Given the description of an element on the screen output the (x, y) to click on. 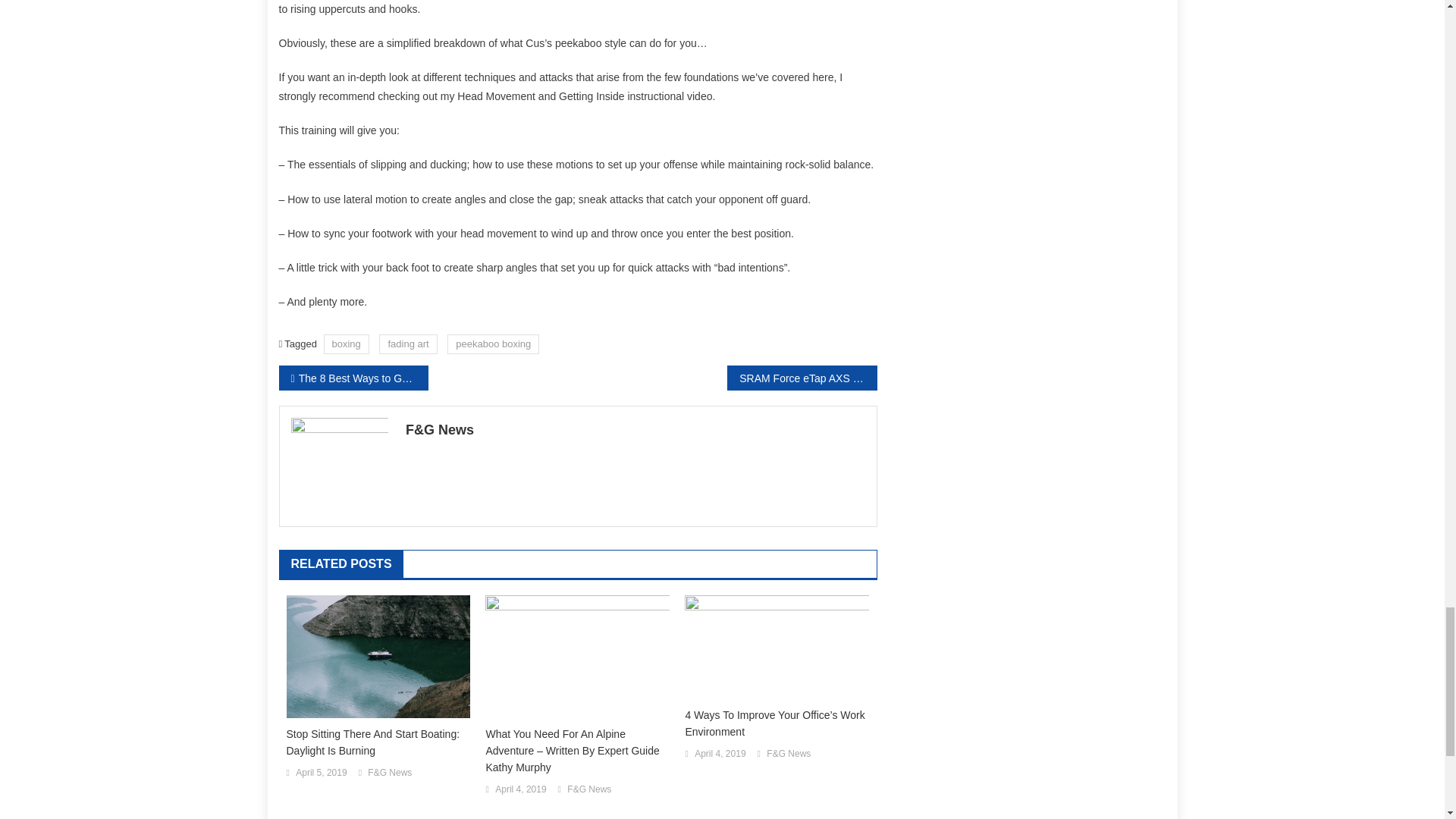
The 8 Best Ways to Get 6-Pack Abs Fast (353, 377)
fading art (407, 343)
April 5, 2019 (320, 773)
April 4, 2019 (719, 754)
Stop Sitting There And Start Boating: Daylight Is Burning (378, 742)
April 4, 2019 (520, 790)
peekaboo boxing (492, 343)
boxing (346, 343)
